Given the description of an element on the screen output the (x, y) to click on. 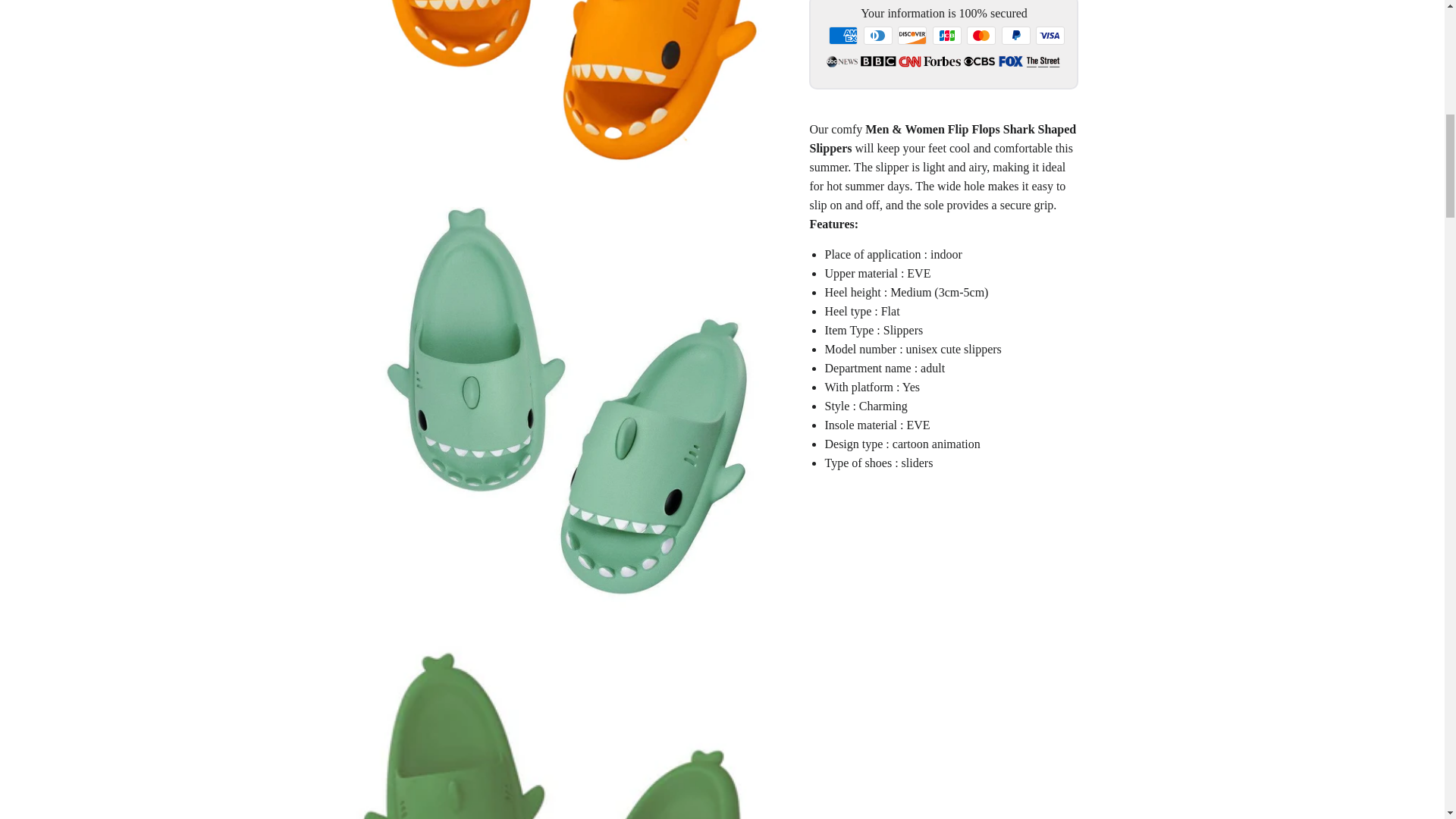
Mastercard (980, 35)
cartoon animation (878, 462)
PayPal (1015, 35)
unisex cute slippers (953, 349)
JCB (946, 35)
Visa (1049, 35)
Discover (912, 35)
cartoon animation (935, 443)
Diners Club (877, 35)
Flat (889, 310)
American Express (842, 35)
EVE (917, 424)
Slippers (903, 329)
Charming (883, 405)
sliders (917, 462)
